Given the description of an element on the screen output the (x, y) to click on. 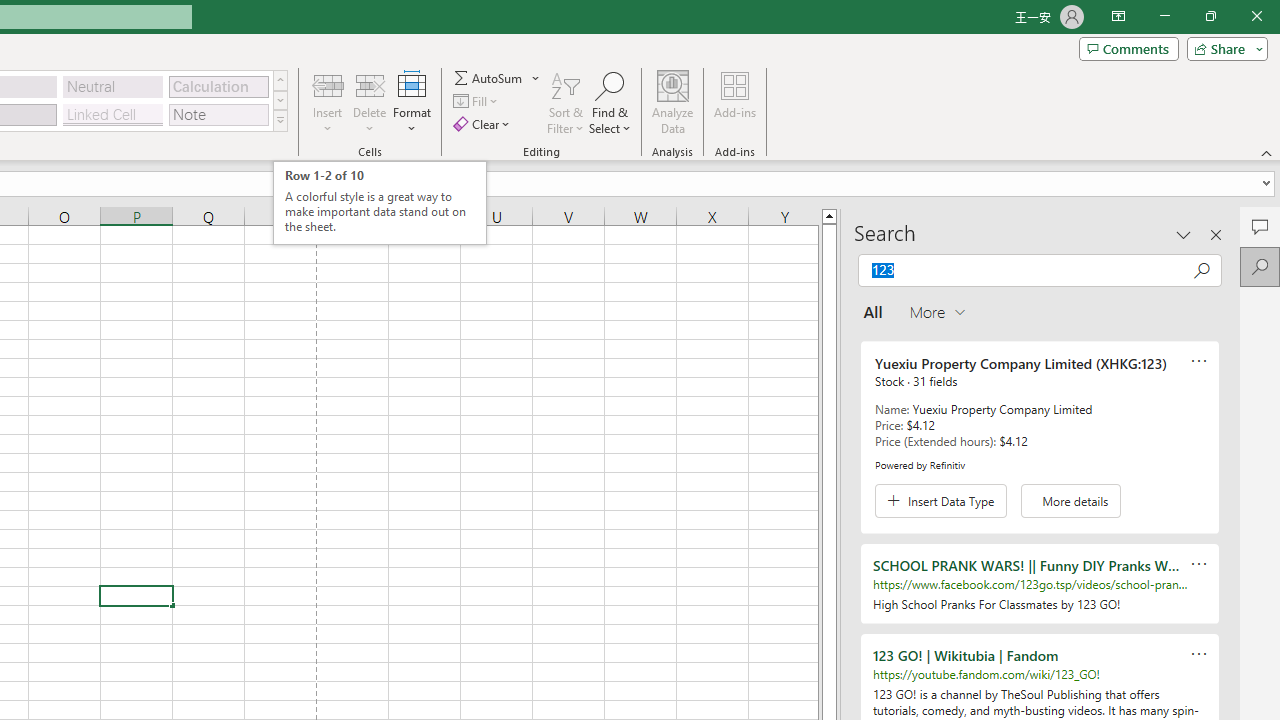
Note (218, 114)
